Given the description of an element on the screen output the (x, y) to click on. 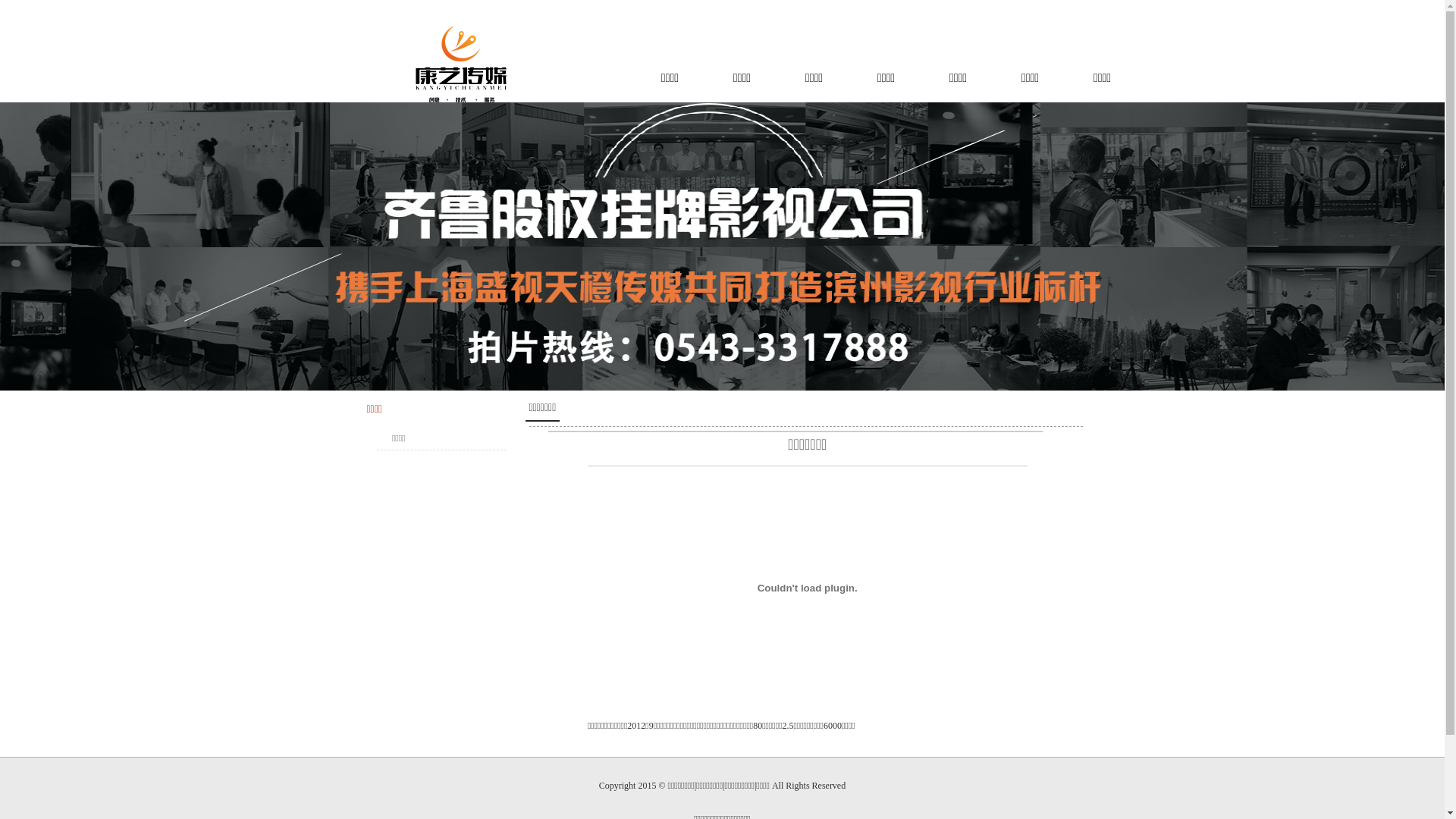
sdyy Element type: hover (463, 64)
